Given the description of an element on the screen output the (x, y) to click on. 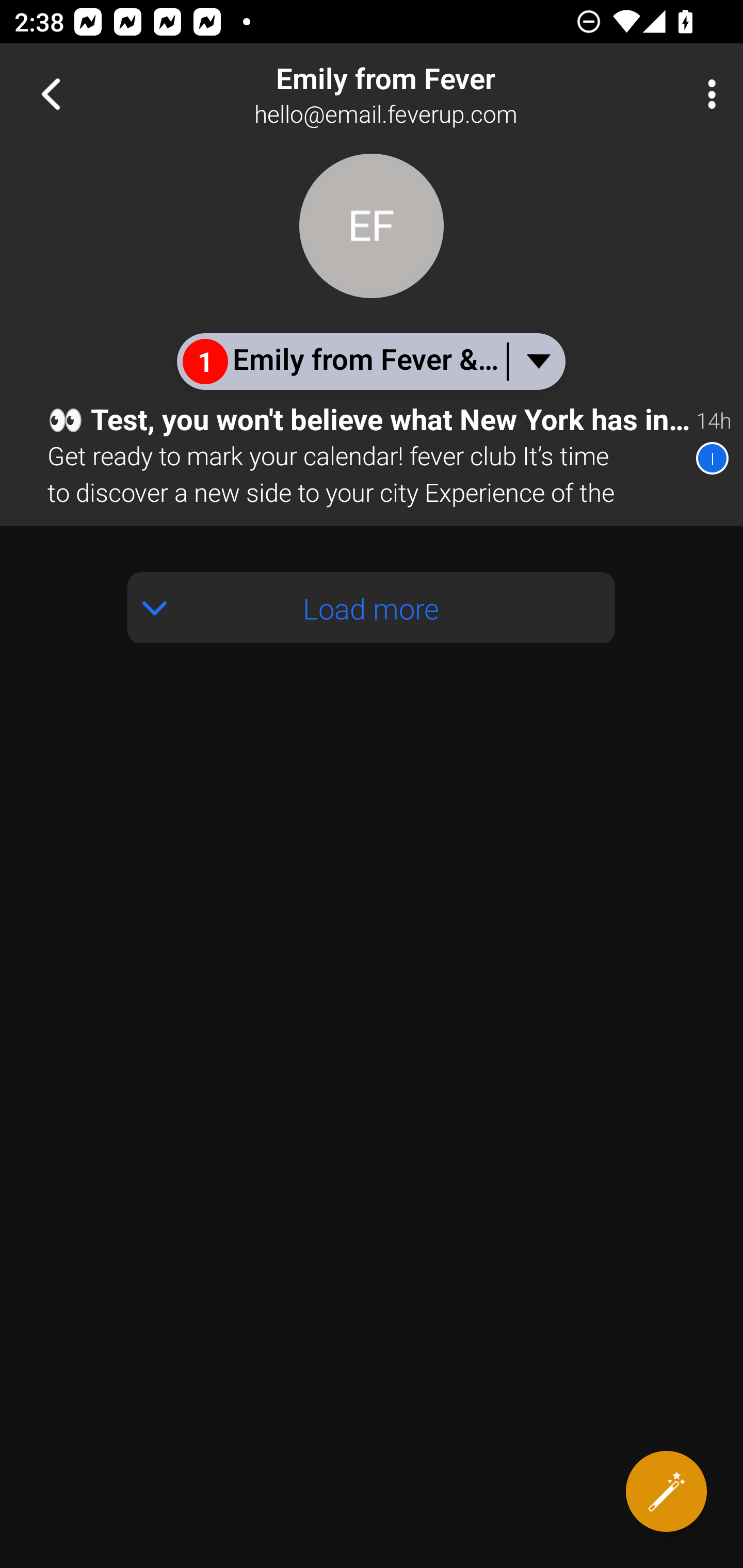
Navigate up (50, 93)
Emily from Fever hello@email.feverup.com (436, 93)
More Options (706, 93)
1 Emily from Fever & You (370, 361)
Load more (371, 607)
